Given the description of an element on the screen output the (x, y) to click on. 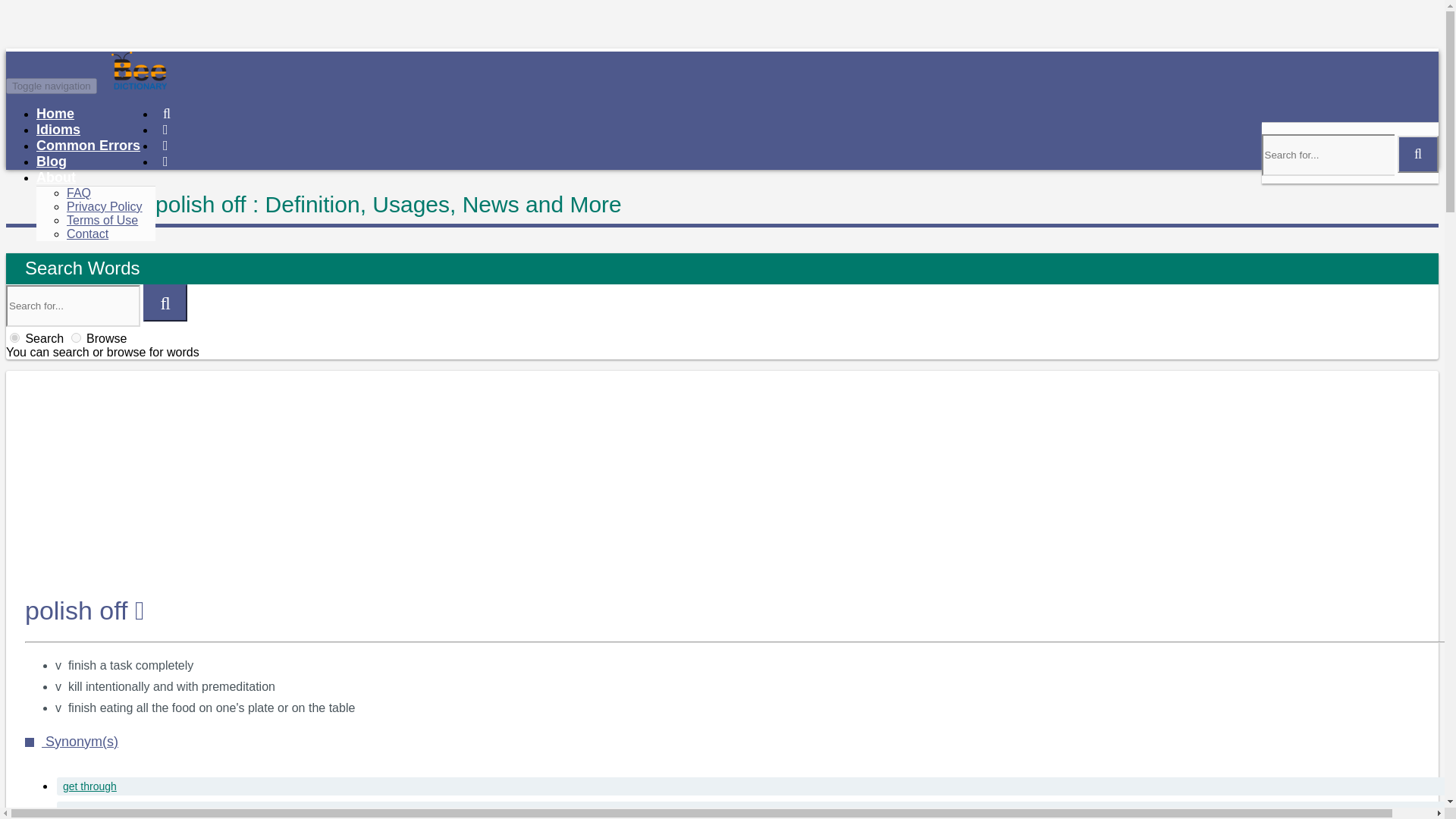
logo (196, 85)
Common Errors (87, 145)
Toggle navigation (51, 85)
Idioms (58, 129)
Terms of Use (102, 219)
browse (76, 337)
Contact (86, 233)
Privacy Policy (104, 205)
FAQ (78, 192)
search (15, 337)
